Given the description of an element on the screen output the (x, y) to click on. 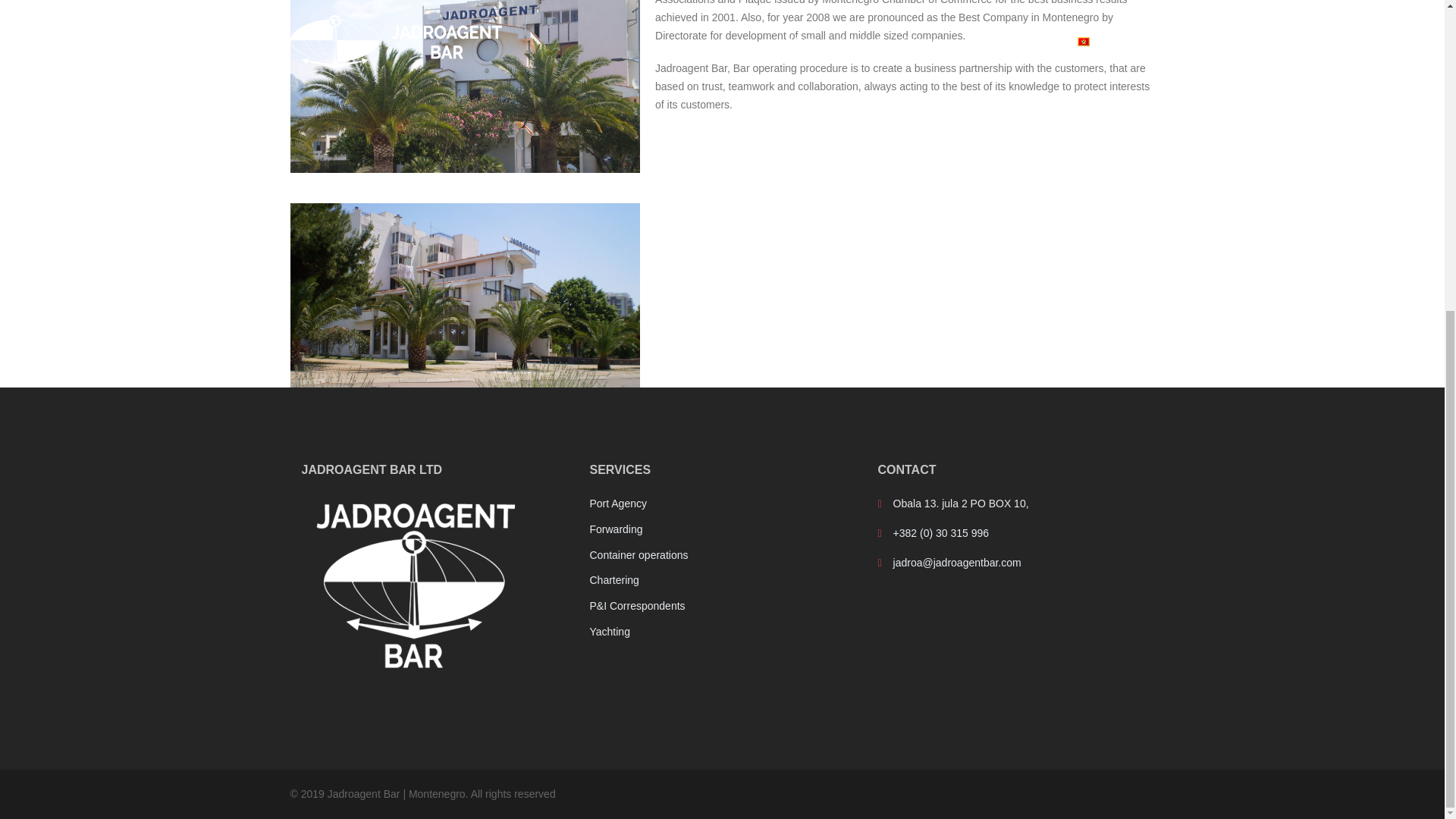
Container operations (638, 554)
Chartering (614, 580)
Forwarding (615, 529)
Port Agency (617, 503)
Yachting (608, 631)
